Given the description of an element on the screen output the (x, y) to click on. 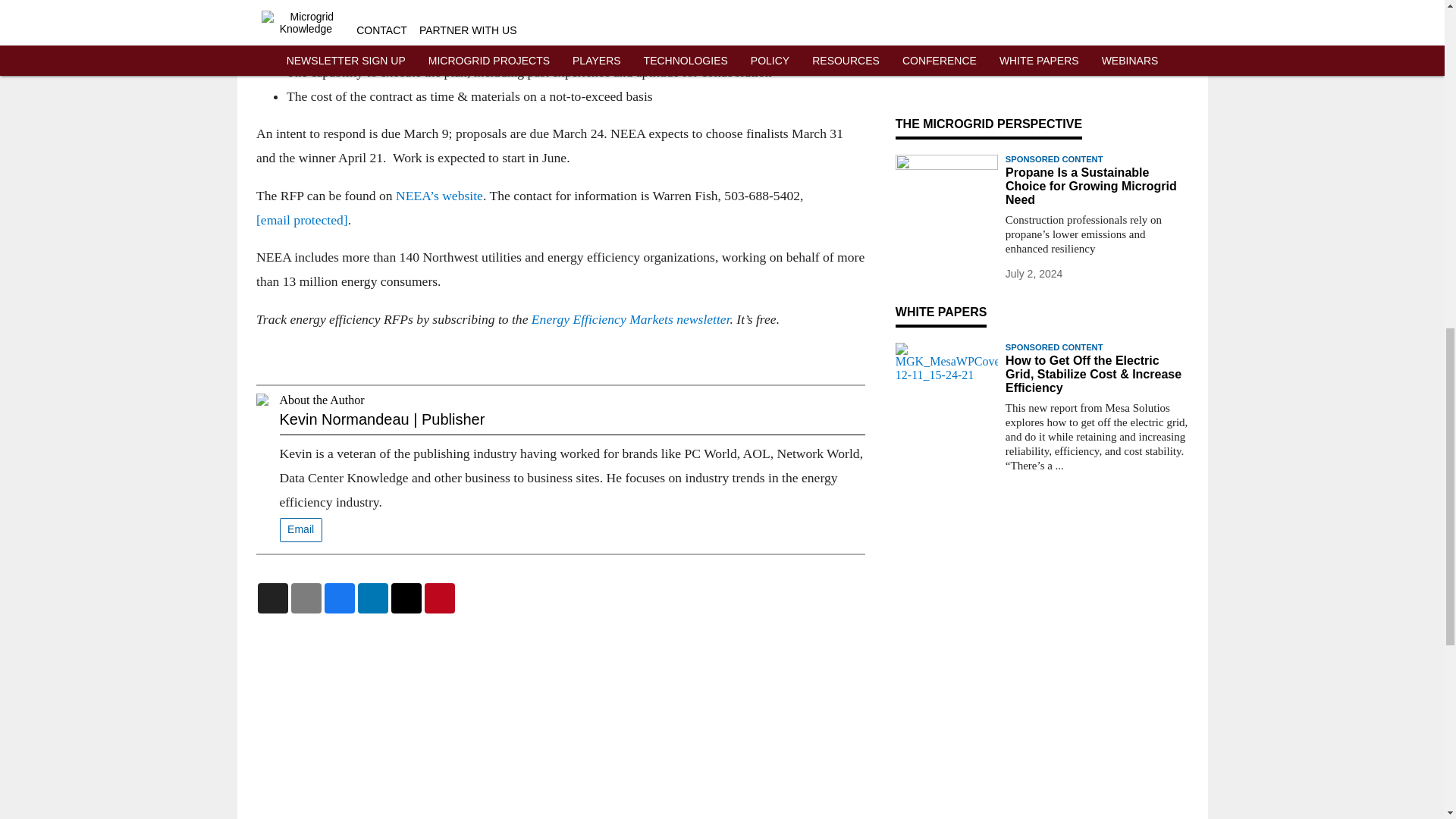
THE MICROGRID PERSPECTIVE (988, 123)
Email (300, 529)
Propane Is a Sustainable Choice for Growing Microgrid Need (1097, 186)
WHITE PAPERS (941, 311)
Energy Efficiency Markets newsletter (630, 319)
